Given the description of an element on the screen output the (x, y) to click on. 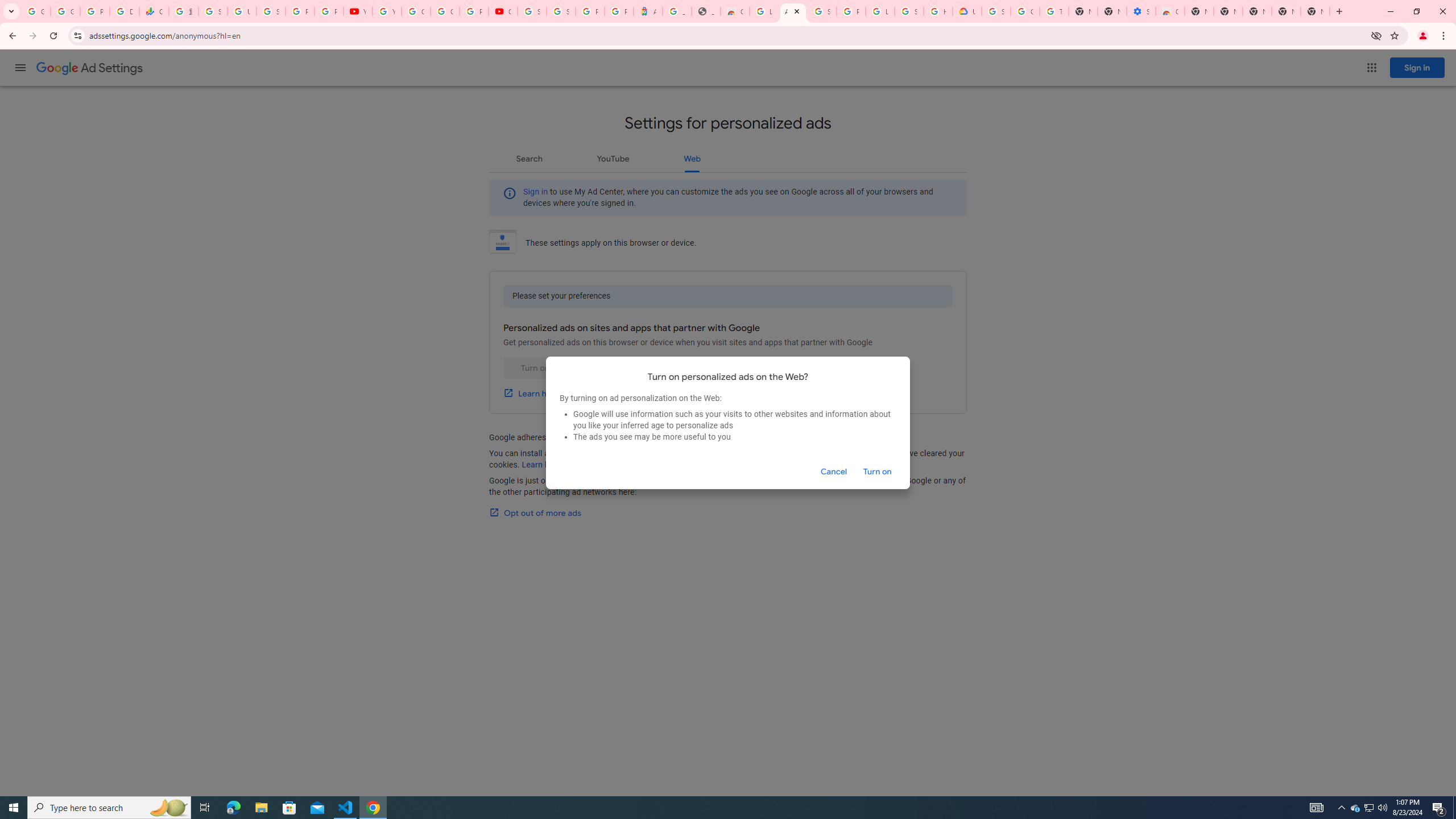
Create your Google Account (444, 11)
Ad Settings (792, 11)
Sign in - Google Accounts (212, 11)
YouTube (386, 11)
Settings - Accessibility (1140, 11)
Turn cookies on or off - Computer - Google Account Help (1054, 11)
New Tab (1198, 11)
Privacy Checkup (327, 11)
Chrome Web Store - Accessibility extensions (1169, 11)
Google Account Help (415, 11)
